Given the description of an element on the screen output the (x, y) to click on. 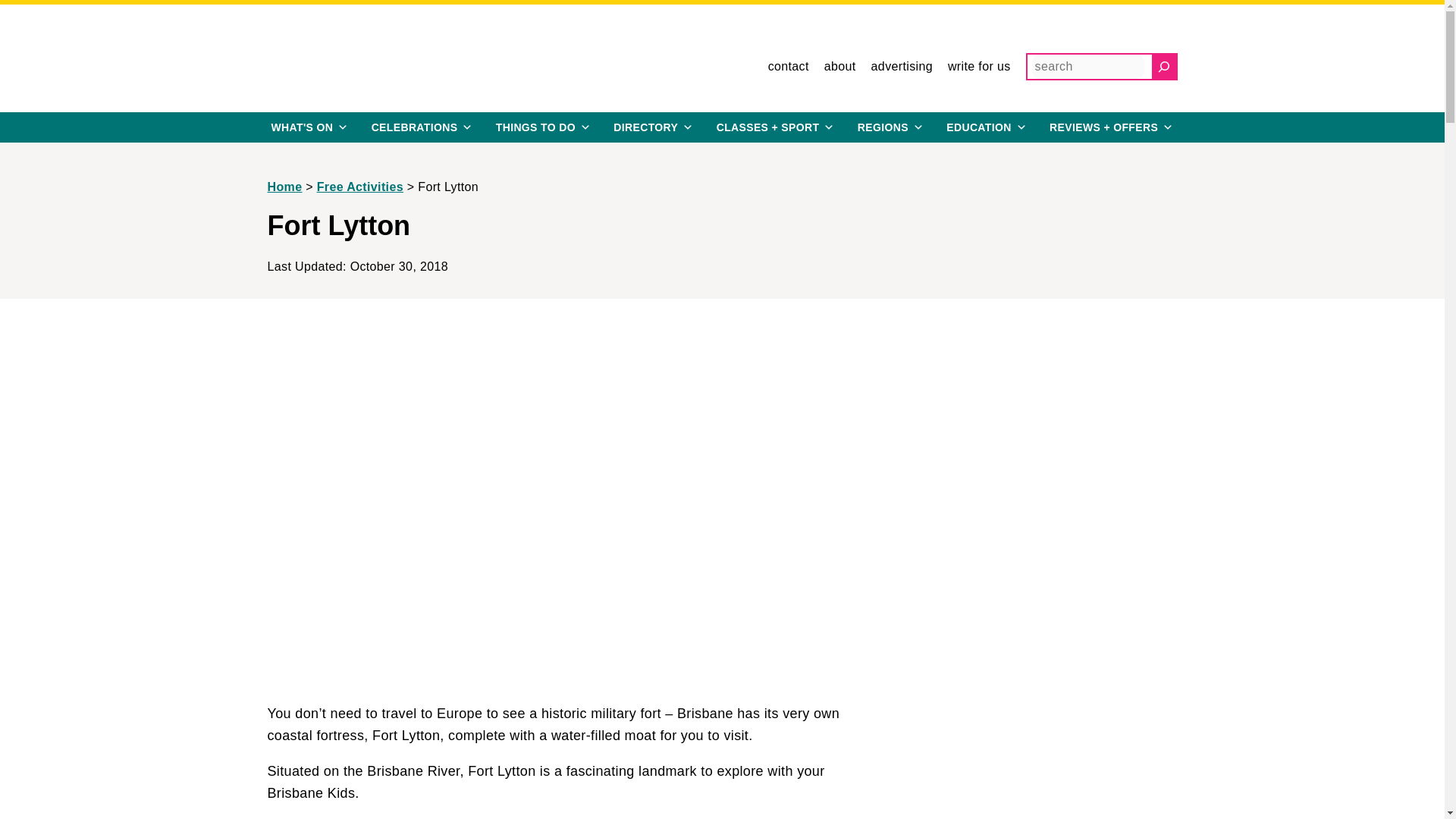
WHAT'S ON (309, 127)
CELEBRATIONS (422, 127)
write for us (978, 66)
advertising (901, 66)
kids activities brisbane (776, 127)
about (840, 66)
THINGS TO DO (542, 127)
contact (788, 66)
